Given the description of an element on the screen output the (x, y) to click on. 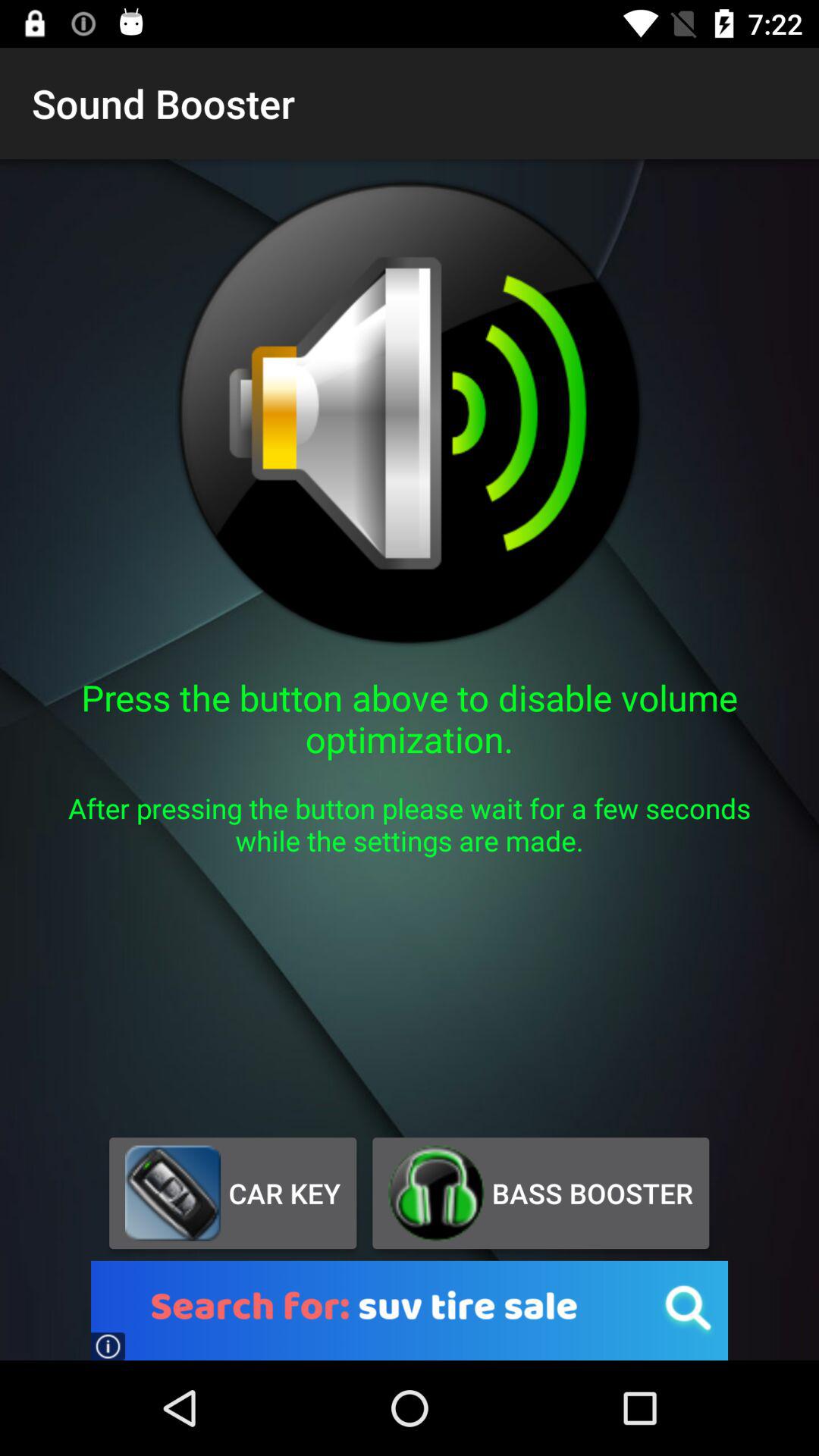
turn on the button below the car key item (409, 1310)
